Given the description of an element on the screen output the (x, y) to click on. 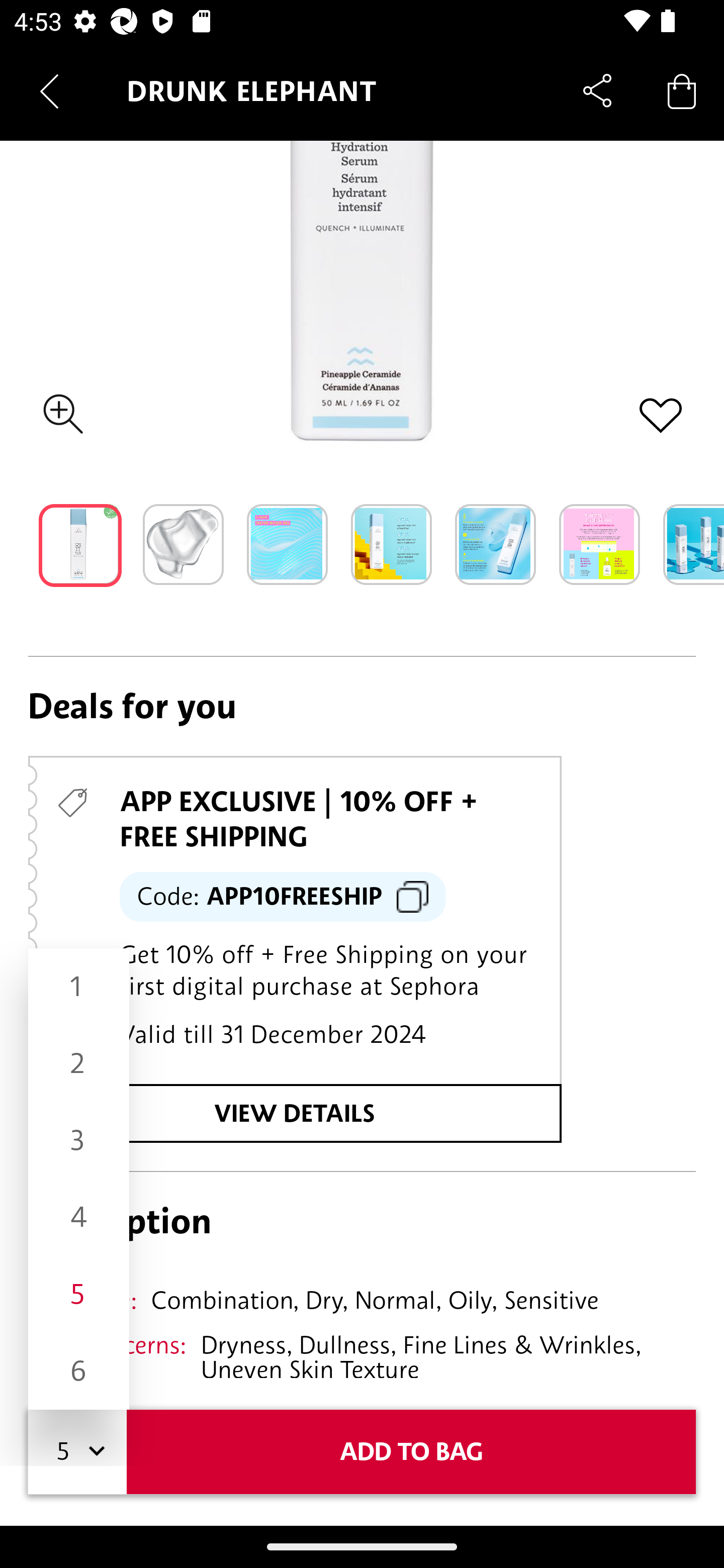
1 (78, 986)
2 (78, 1063)
3 (78, 1140)
4 (78, 1217)
5 (78, 1293)
6 (78, 1370)
